Given the description of an element on the screen output the (x, y) to click on. 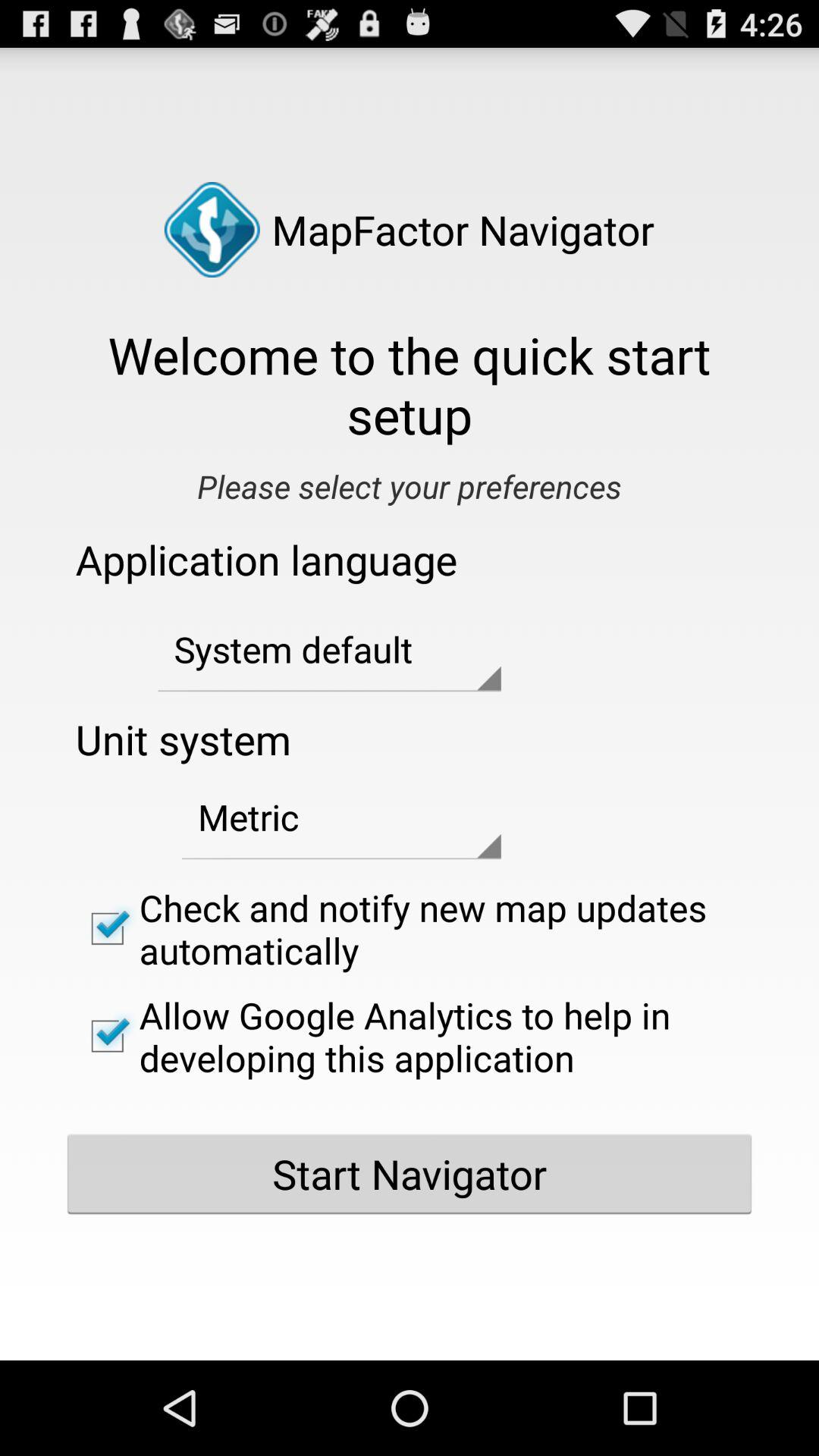
scroll to check and notify icon (409, 928)
